Given the description of an element on the screen output the (x, y) to click on. 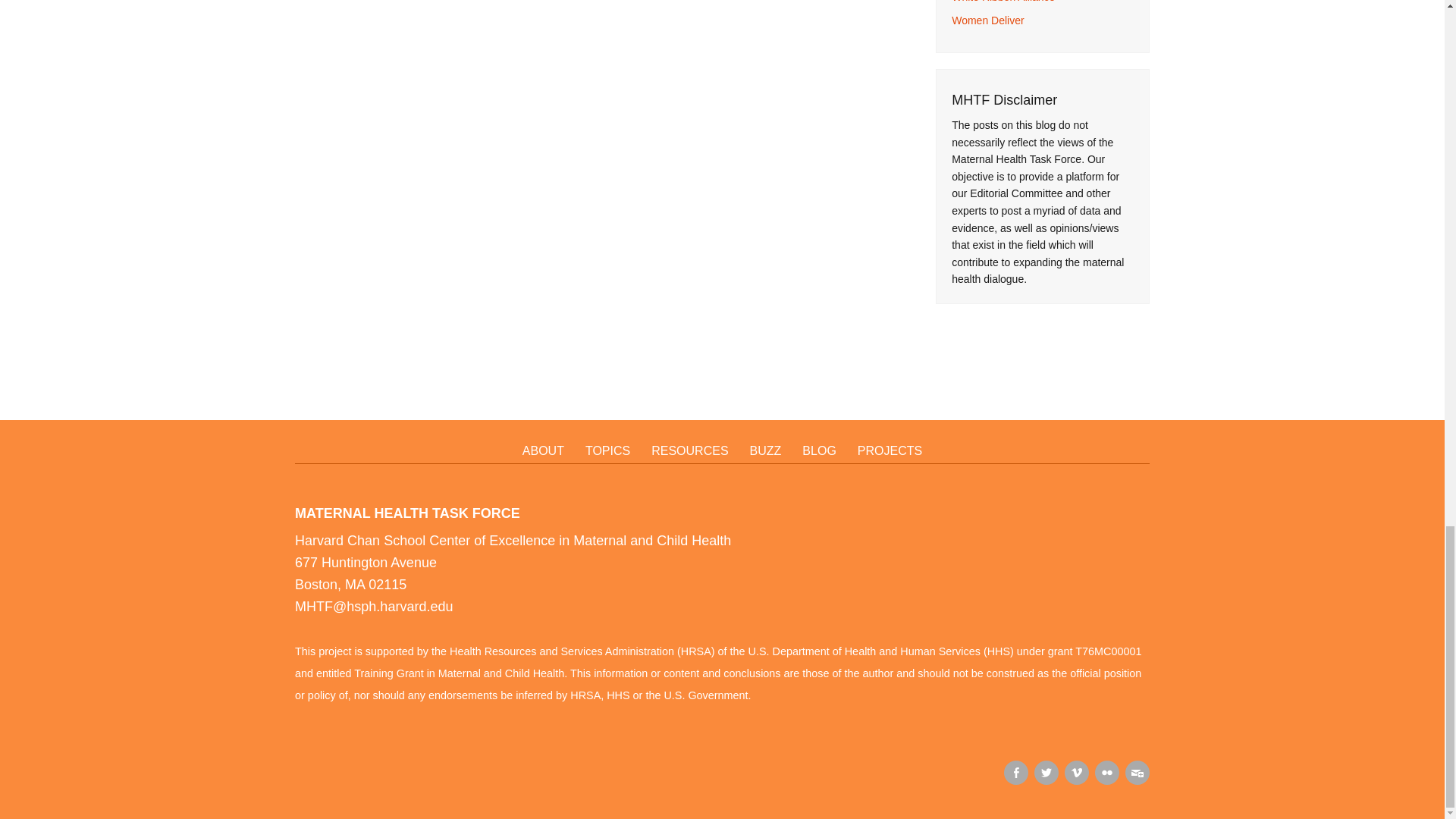
ABOUT (543, 451)
Women Deliver (987, 20)
White Ribbon Alliance (1003, 1)
